Given the description of an element on the screen output the (x, y) to click on. 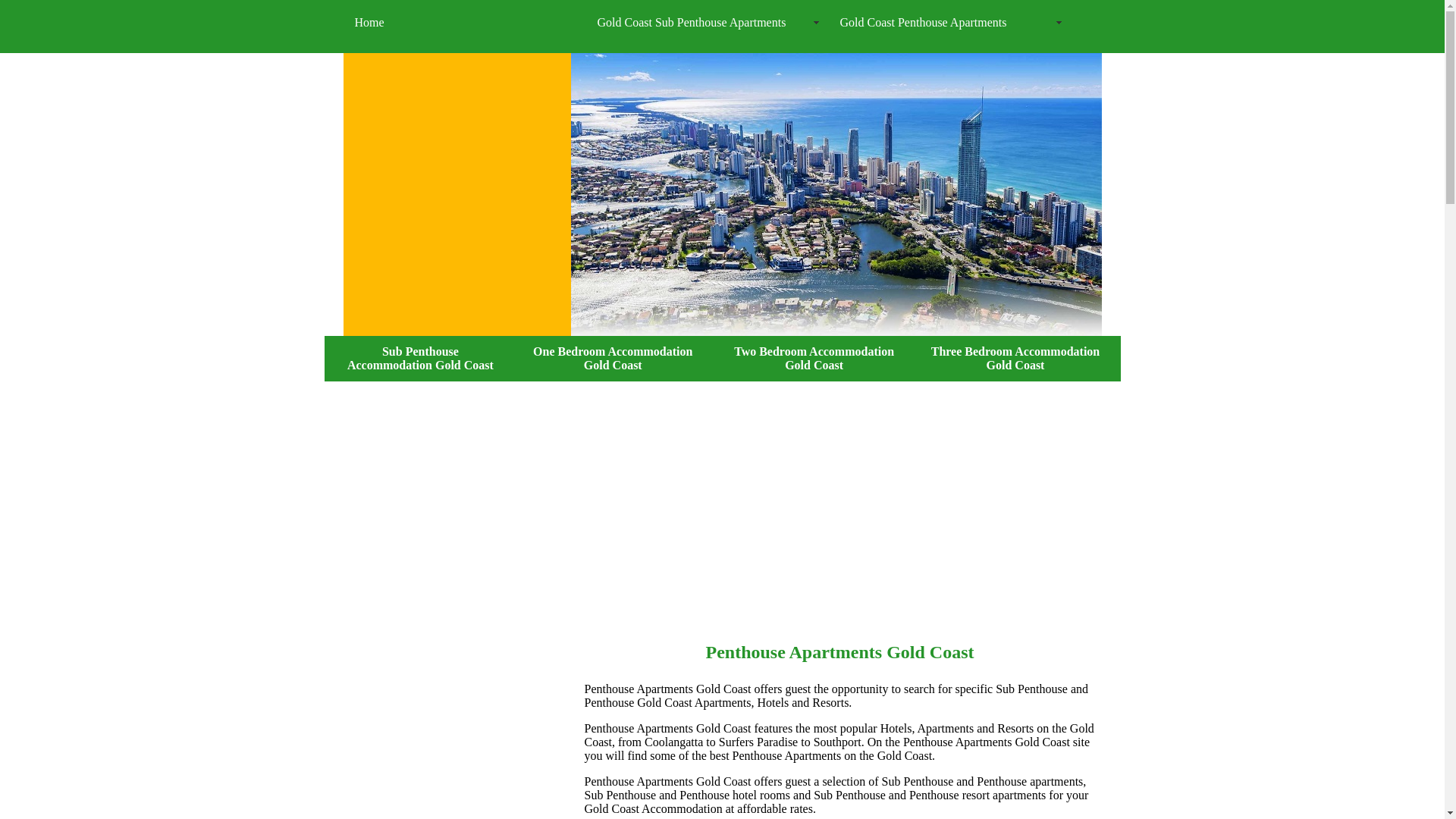
Three Bedroom Accommodation Gold Coast Element type: text (1015, 358)
Gold Coast Sub Penthouse Apartments Element type: text (709, 22)
Penthouse Apartments Gold Coast Element type: text (839, 651)
Sub Penthouse Accommodation Gold Coast Element type: text (420, 358)
Home Element type: text (466, 22)
Advertisement Element type: hover (721, 501)
Gold Coast Penthouse Apartments Element type: text (952, 22)
Two Bedroom Accommodation Gold Coast Element type: text (814, 358)
One Bedroom Accommodation Gold Coast Element type: text (612, 358)
